Given the description of an element on the screen output the (x, y) to click on. 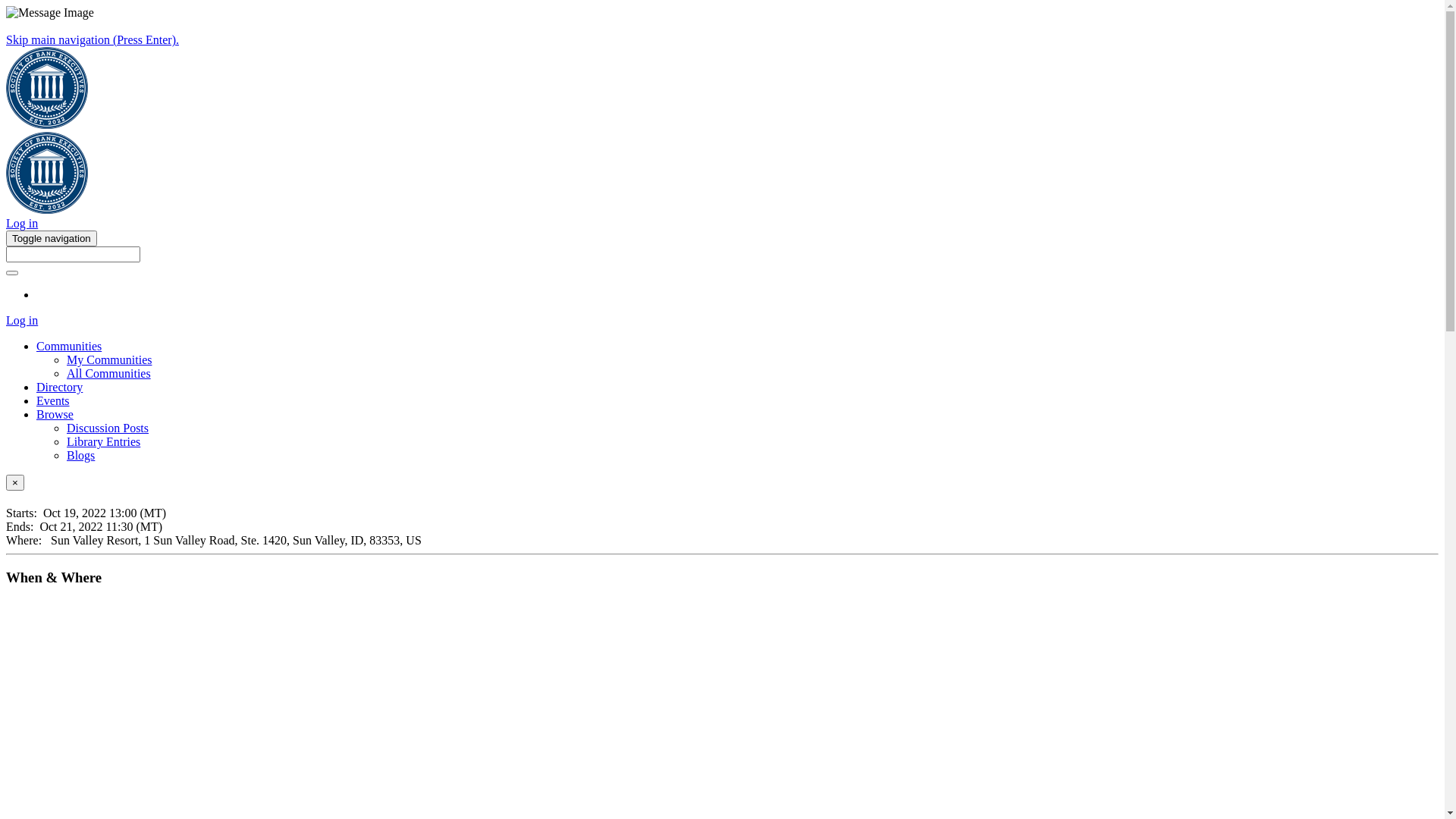
Discussion Posts Element type: text (107, 427)
Directory Element type: text (59, 386)
Log in Element type: text (21, 222)
Browse Element type: text (54, 413)
Log in Element type: text (21, 319)
All Communities Element type: text (108, 373)
Events Element type: text (52, 400)
Library Entries Element type: text (103, 441)
Toggle navigation Element type: text (51, 238)
Communities Element type: text (68, 345)
search Element type: hover (73, 254)
Skip main navigation (Press Enter). Element type: text (92, 39)
Blogs Element type: text (80, 454)
My Communities Element type: text (108, 359)
